Given the description of an element on the screen output the (x, y) to click on. 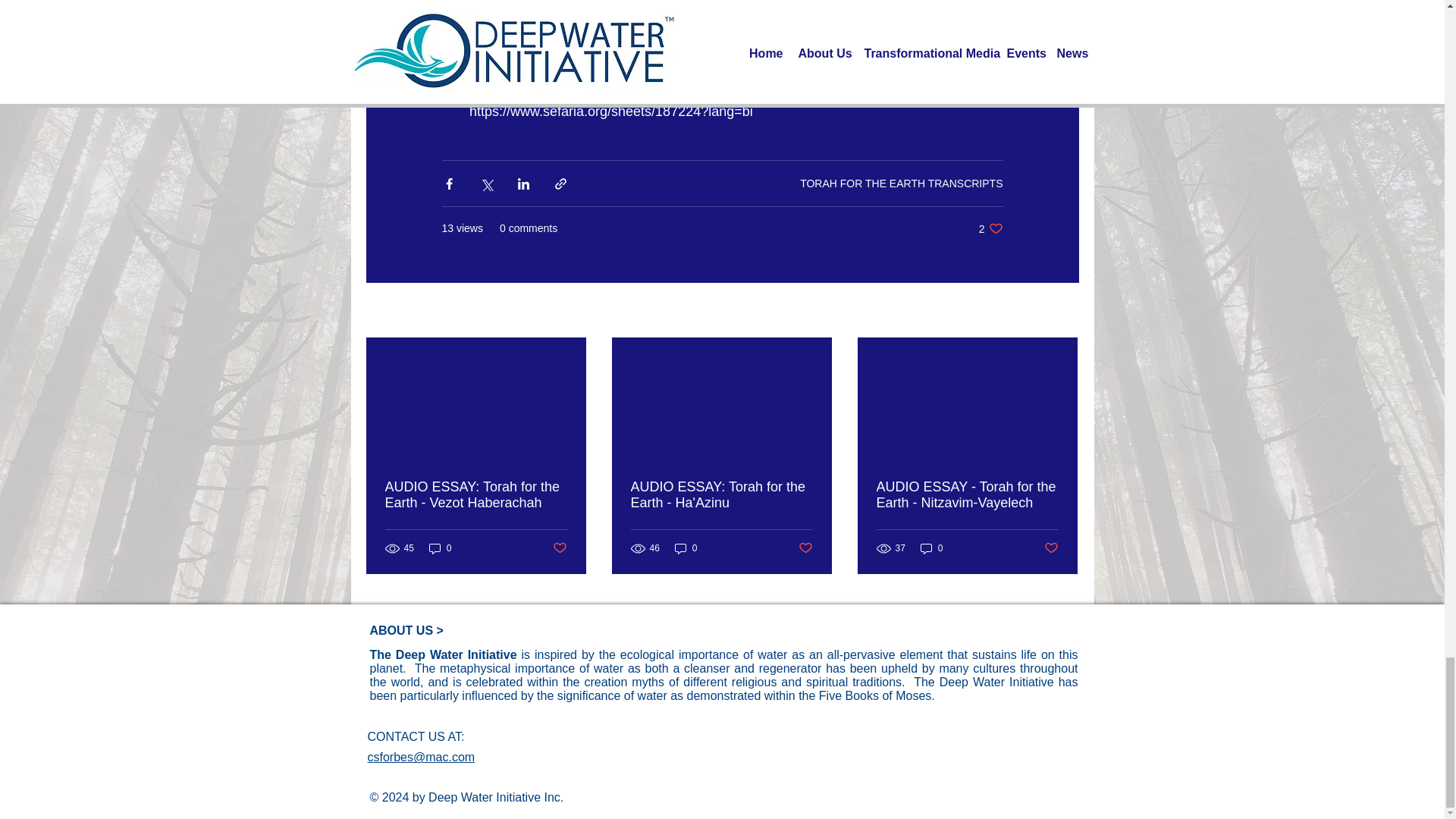
0 (685, 548)
Post not marked as liked (1050, 547)
0 (440, 548)
0 (931, 548)
AUDIO ESSAY: Torah for the Earth - Vezot Haberachah (476, 495)
See All (1061, 311)
AUDIO ESSAY - Torah for the Earth - Nitzavim-Vayelech (967, 495)
TORAH FOR THE EARTH TRANSCRIPTS (901, 183)
Post not marked as liked (804, 547)
AUDIO ESSAY: Torah for the Earth - Ha'Azinu (721, 495)
Post not marked as liked (990, 228)
